Given the description of an element on the screen output the (x, y) to click on. 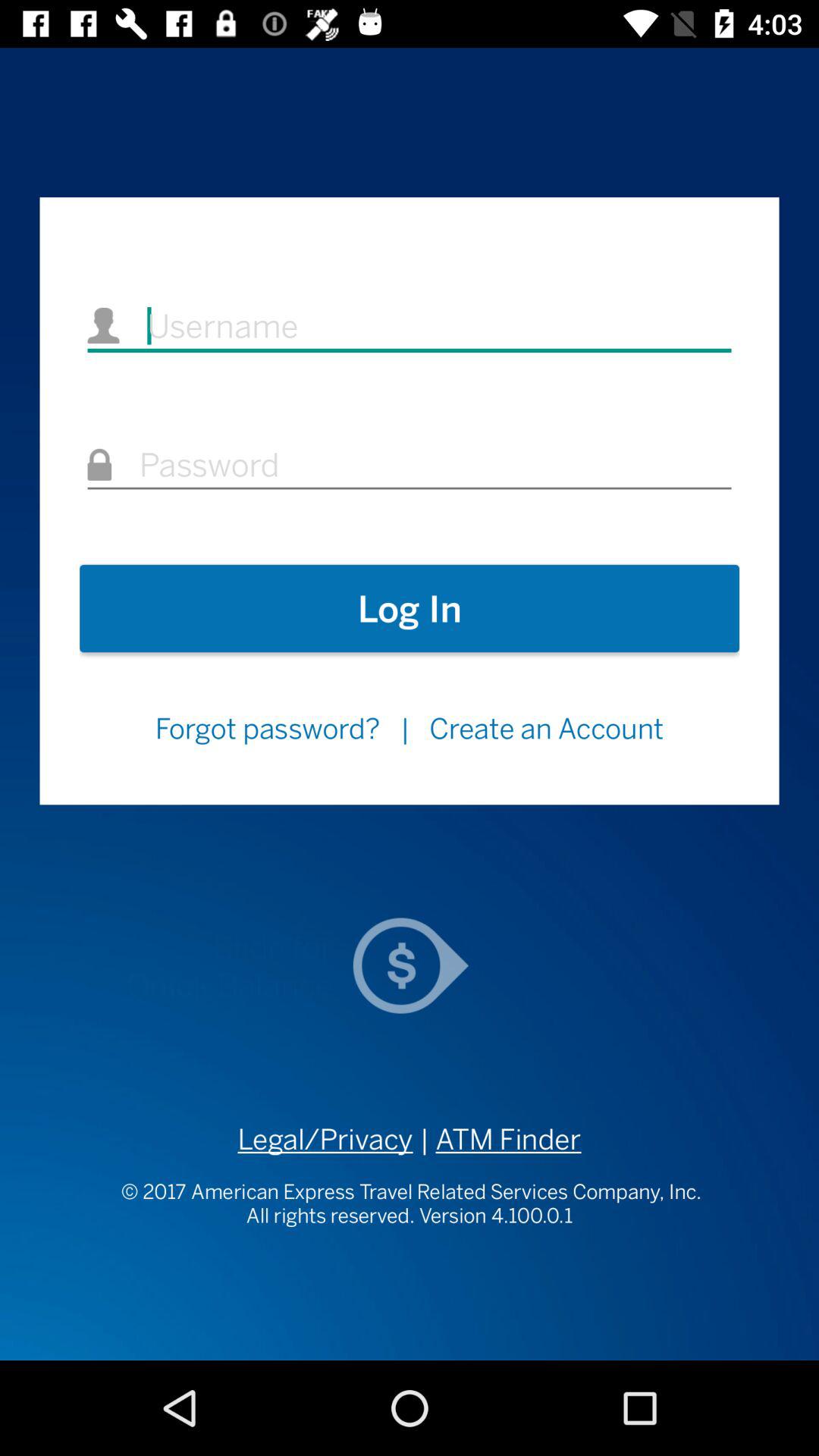
turn on icon below the log in (266, 728)
